Given the description of an element on the screen output the (x, y) to click on. 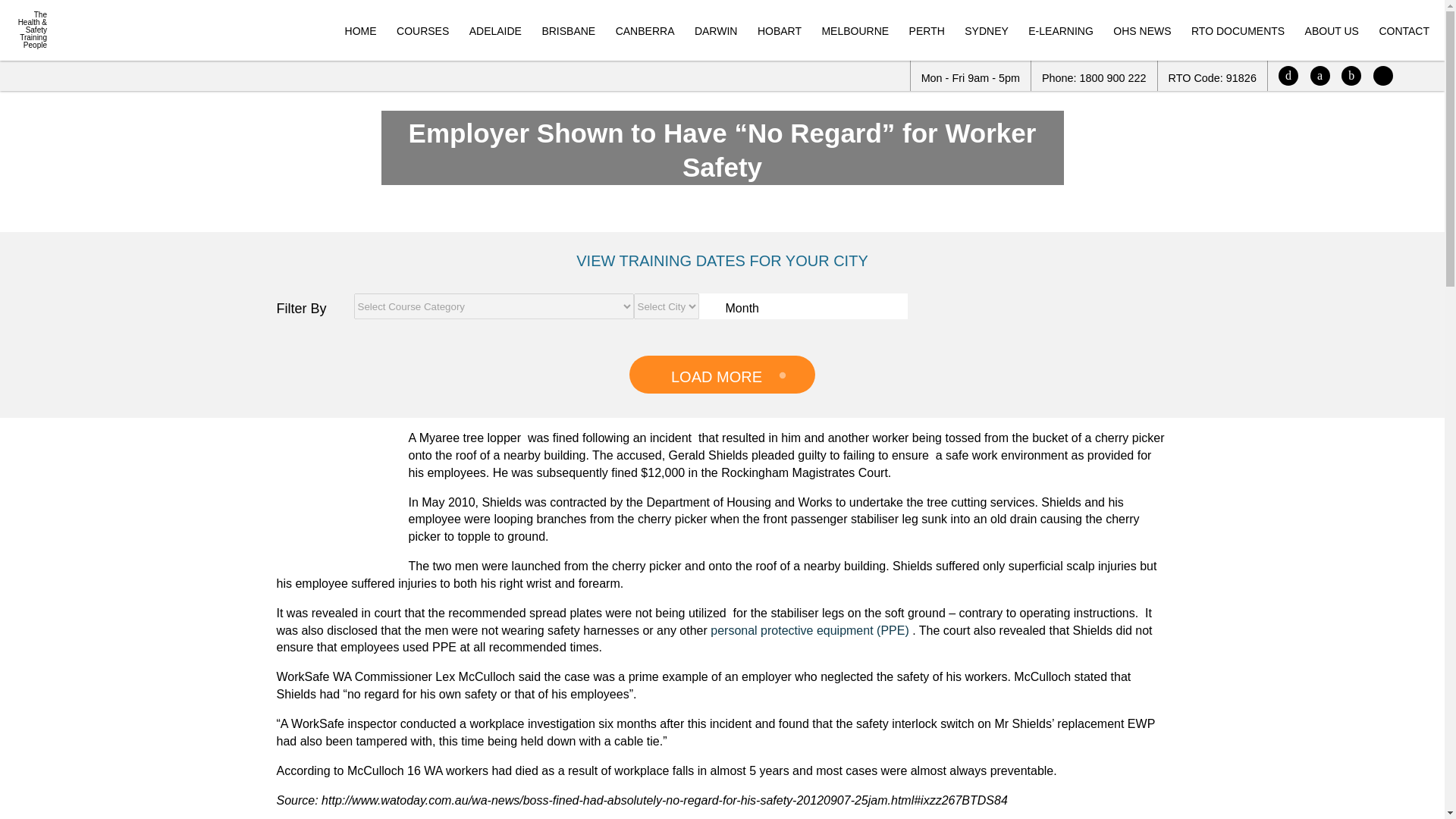
BRISBANE (568, 30)
PPE Safety (333, 490)
COURSES (422, 30)
ADELAIDE (494, 30)
HOME (361, 30)
